Given the description of an element on the screen output the (x, y) to click on. 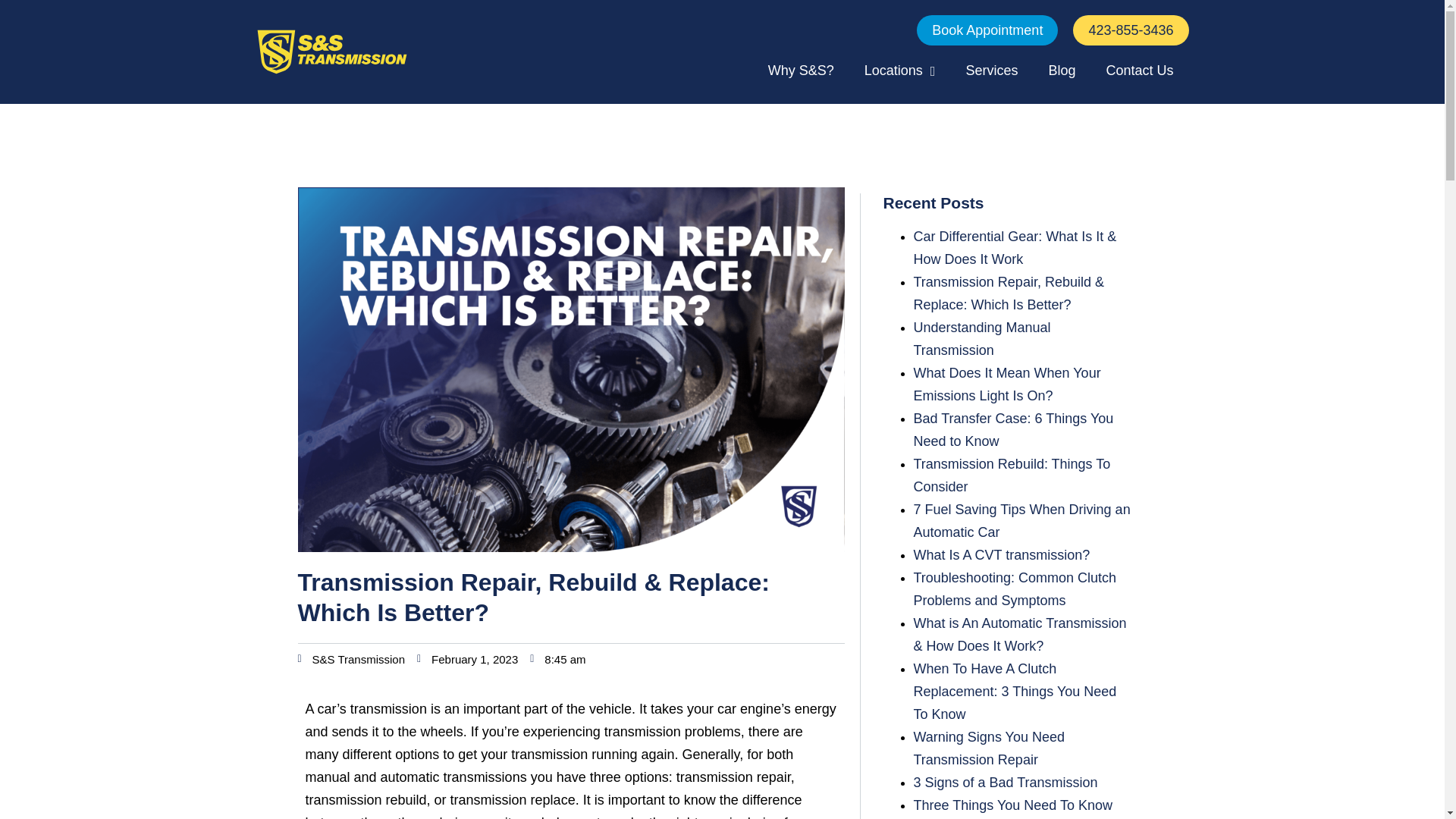
Blog (1061, 70)
Book Appointment (987, 30)
423-855-3436 (1130, 30)
Contact Us (1139, 70)
Services (991, 70)
Locations (899, 70)
